Given the description of an element on the screen output the (x, y) to click on. 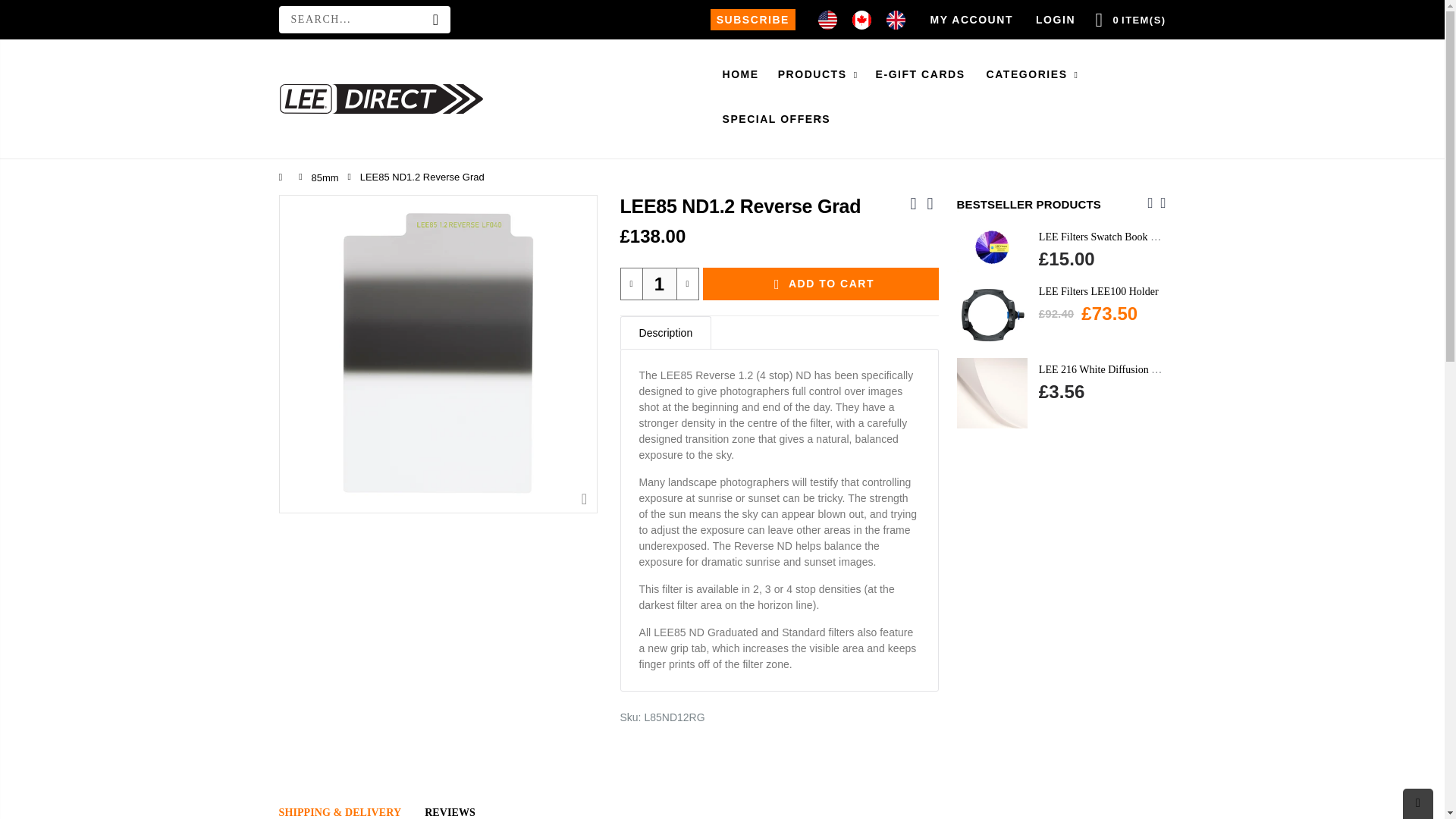
E-GIFT CARDS (926, 74)
LEE Filters LEE100 Holder (1098, 291)
Previous Product (913, 203)
Next Product (930, 203)
1 (659, 283)
MY ACCOUNT (971, 19)
LOGIN (1055, 19)
LEE 809 Warm Amber 8 Zircon for LED Lighting Gel (938, 392)
HOME (746, 74)
SUBSCRIBE (752, 20)
